Given the description of an element on the screen output the (x, y) to click on. 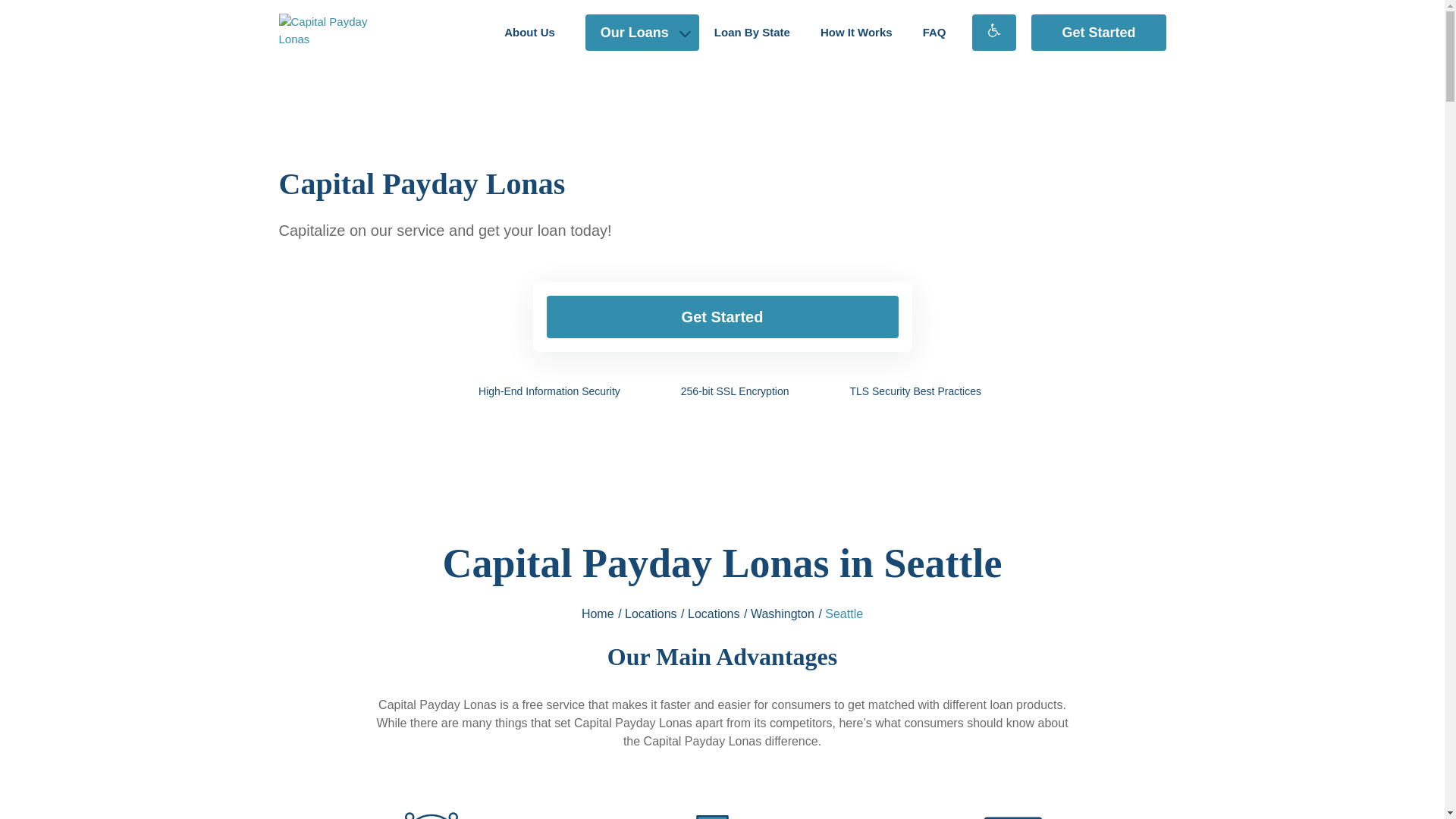
Home (597, 613)
Locations (650, 613)
Washington (782, 613)
How It Works (856, 32)
FAQ (933, 32)
Capital Payday Lonas (337, 31)
Locations (713, 613)
About Us (529, 32)
Our Loans (641, 31)
Get Started (722, 316)
